Given the description of an element on the screen output the (x, y) to click on. 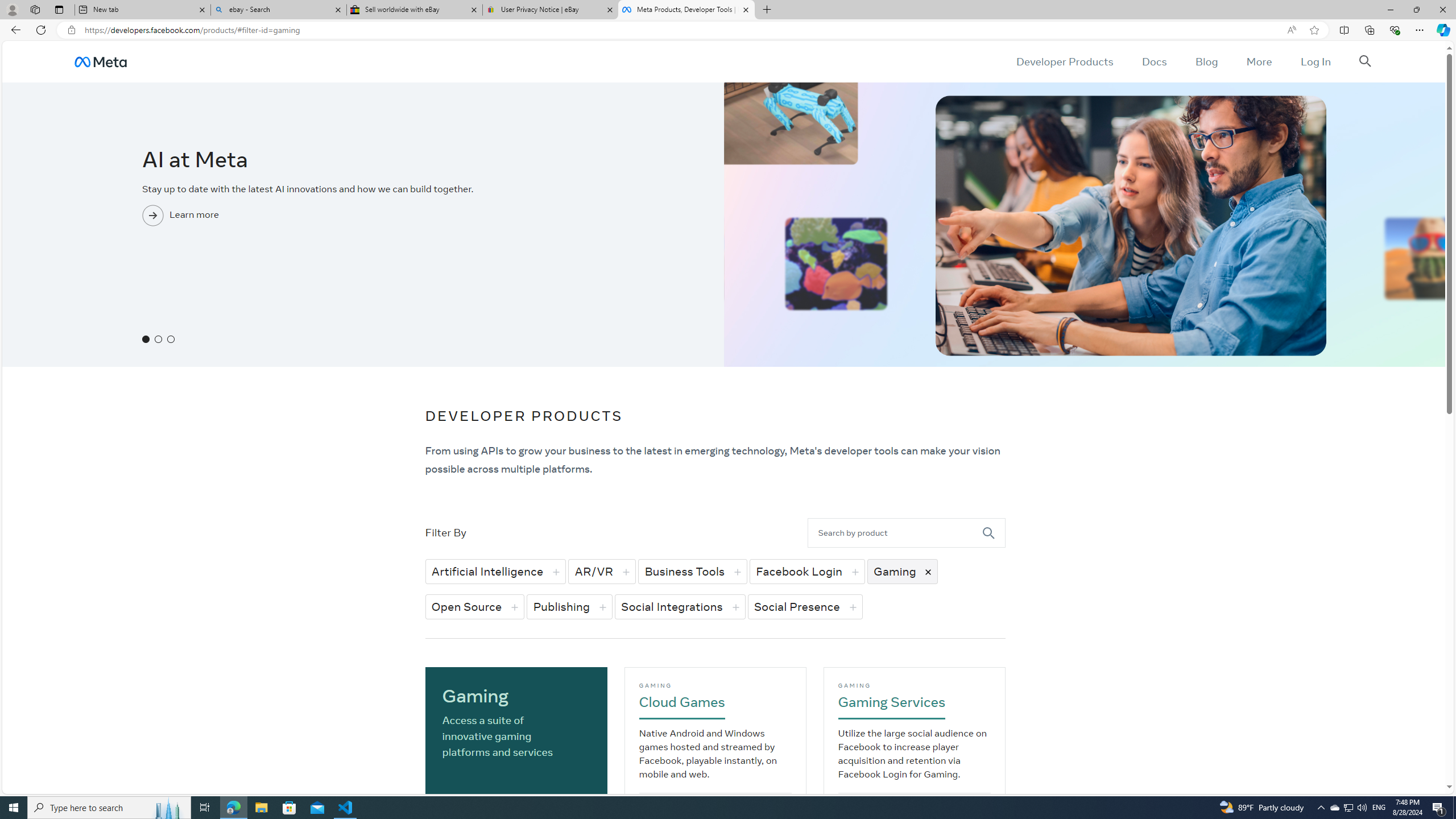
Show slide 3 (170, 339)
Developer Products (1064, 61)
Artificial Intelligence (495, 571)
Facebook Login (806, 571)
Developer Products (1064, 61)
More (1259, 61)
Gaming (901, 571)
